Given the description of an element on the screen output the (x, y) to click on. 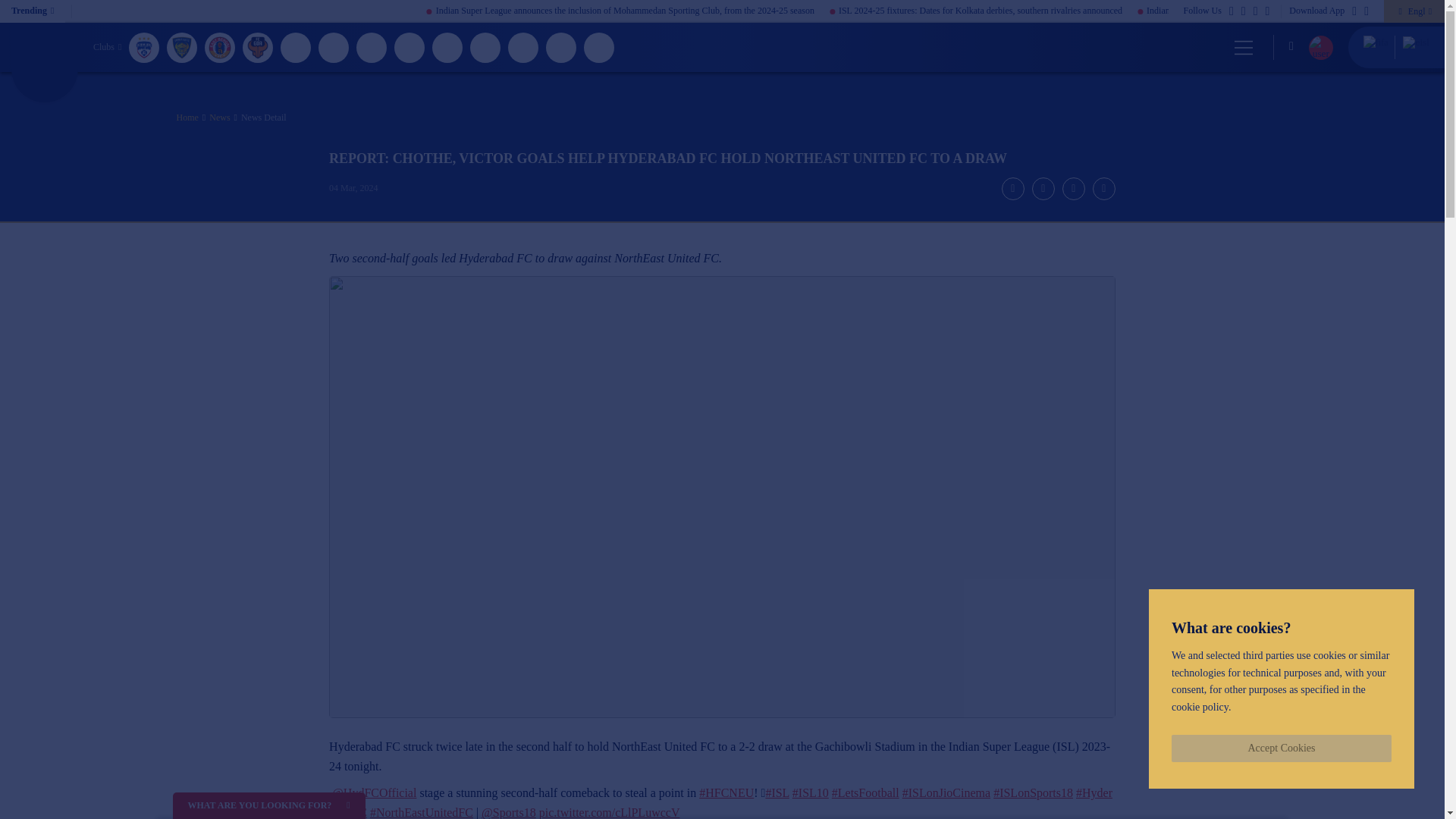
Kerala Blasters FC (371, 46)
Chennaiyin FC (181, 46)
Punjab FC (598, 46)
NorthEast United FC (523, 46)
Hyderabad FC (296, 46)
Bengaluru FC (143, 46)
Mumbai City FC (485, 46)
Odisha FC (561, 46)
Mohammedan SC (409, 46)
